Given the description of an element on the screen output the (x, y) to click on. 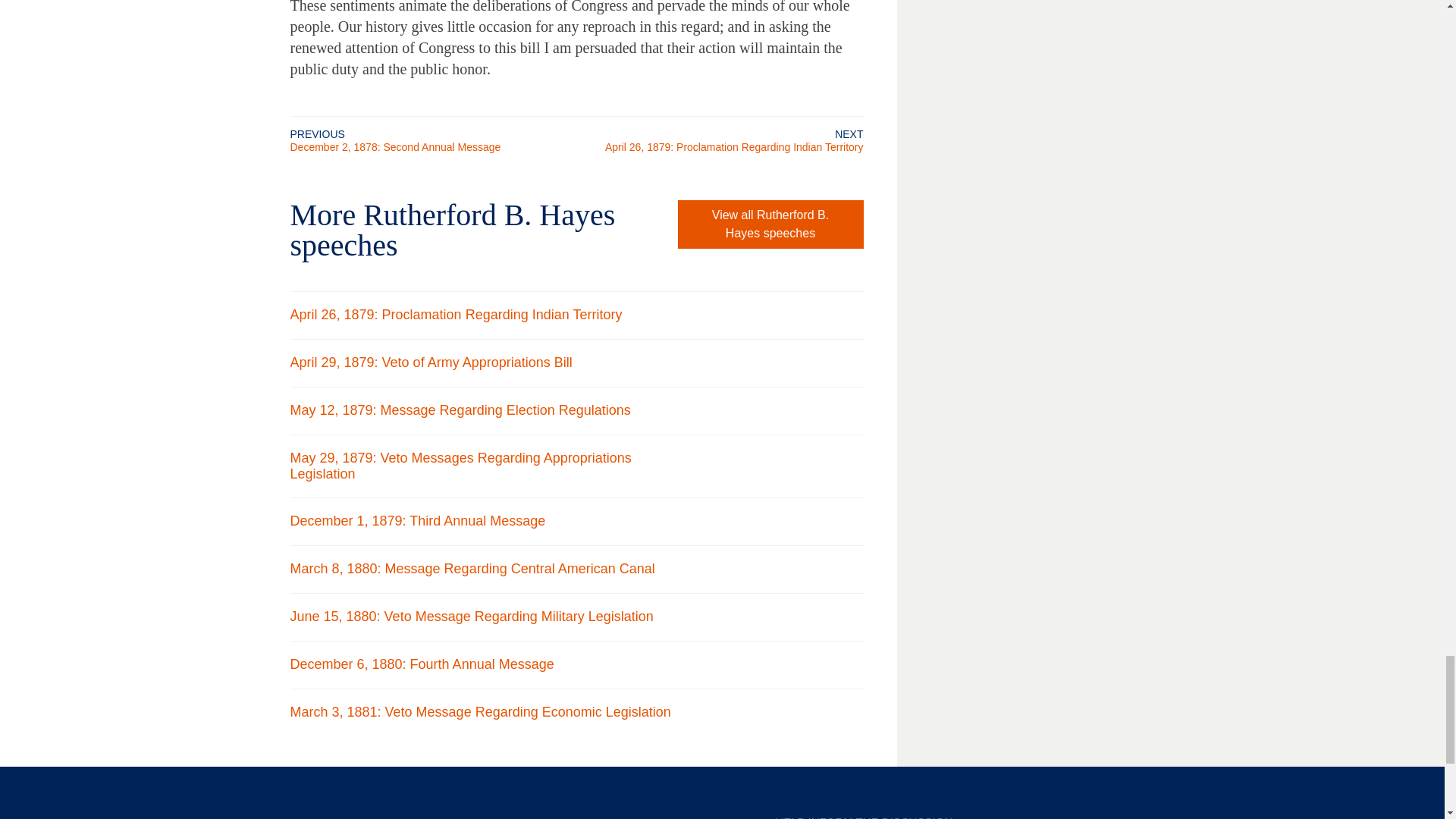
Home (321, 817)
